Given the description of an element on the screen output the (x, y) to click on. 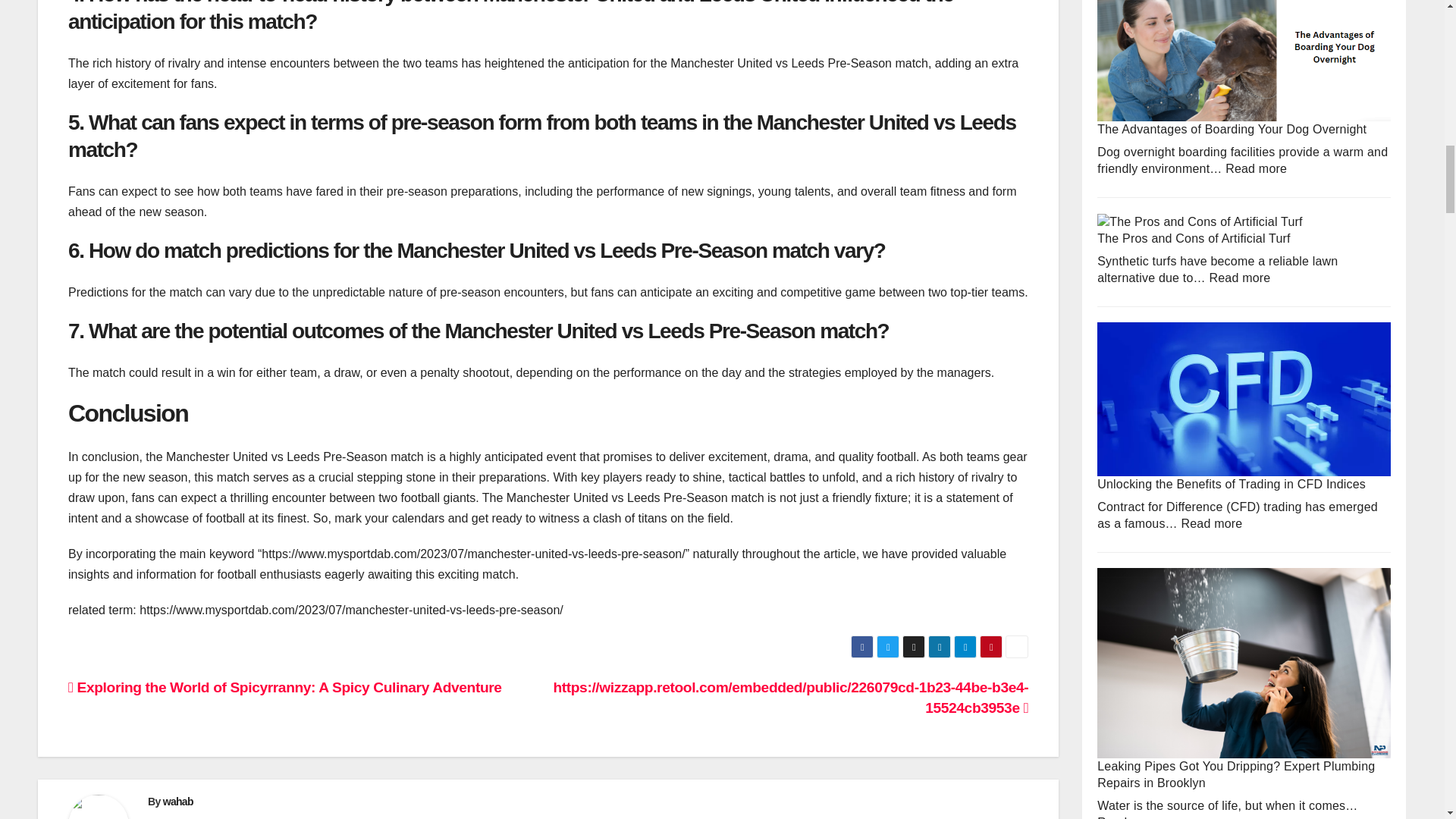
wahab (178, 800)
